Given the description of an element on the screen output the (x, y) to click on. 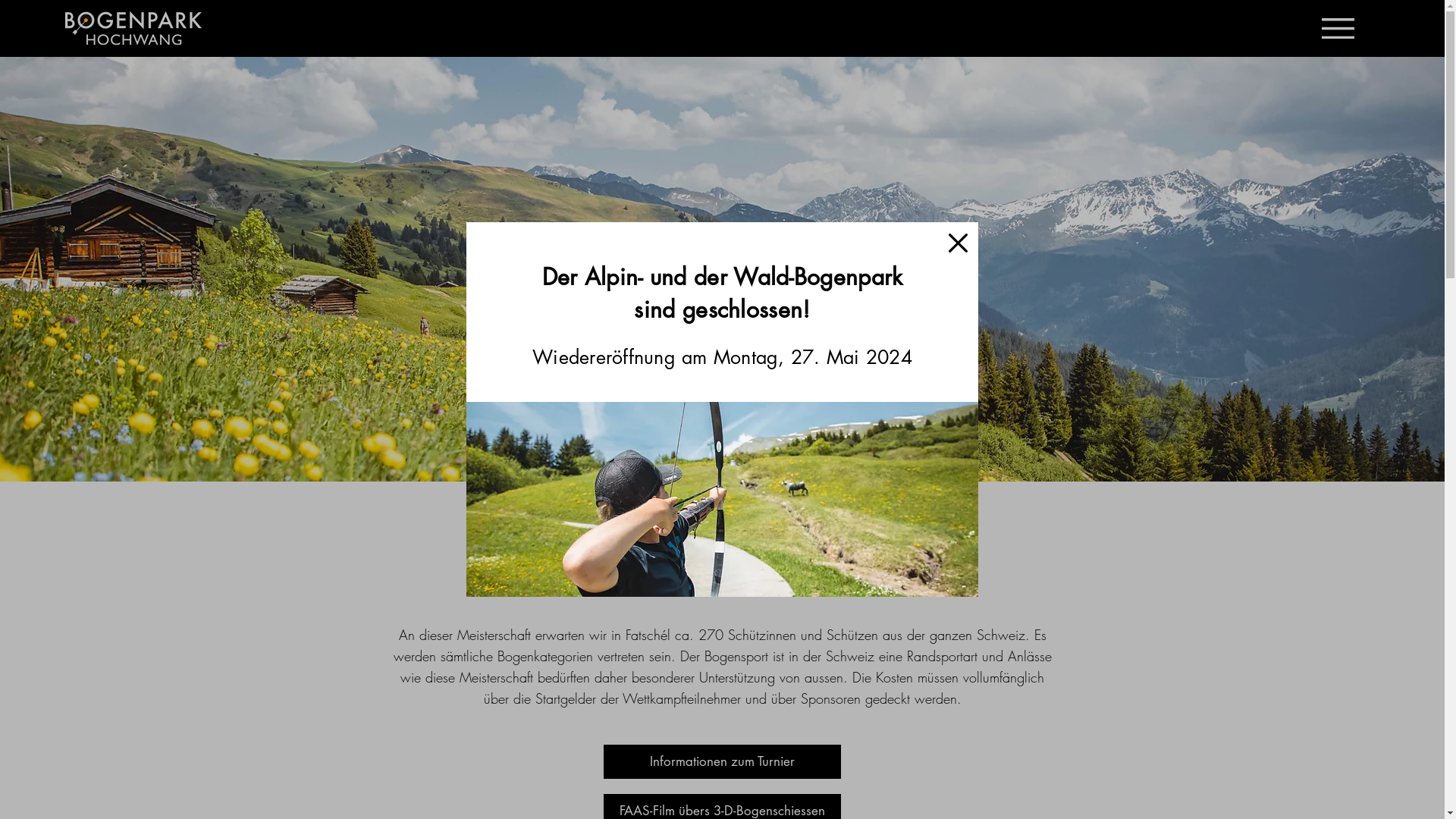
Informationen zum Turnier Element type: text (721, 761)
